Given the description of an element on the screen output the (x, y) to click on. 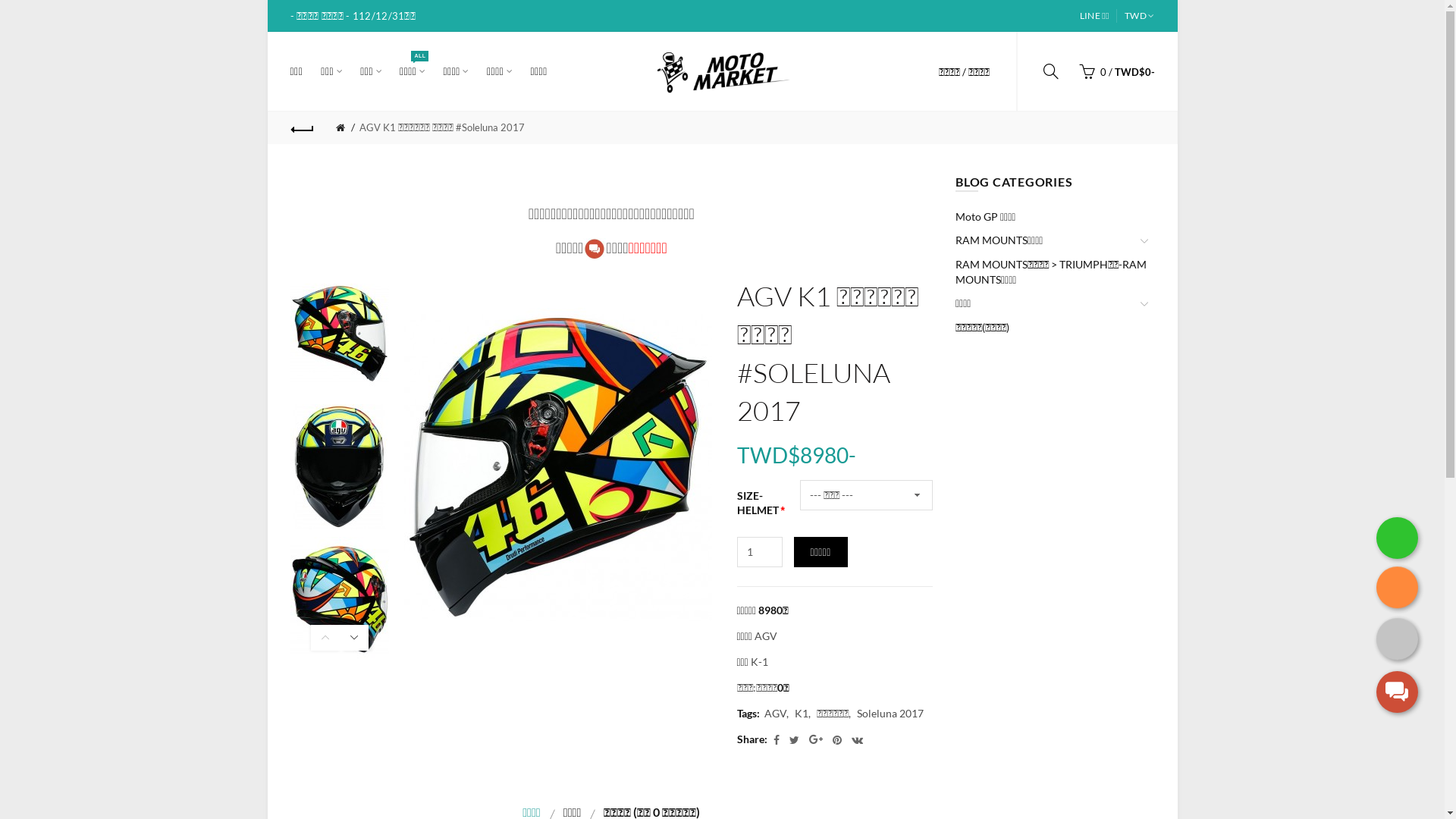
Soleluna 2017 Element type: text (884, 712)
K1 Element type: text (796, 712)
AGV Element type: text (765, 635)
AGV Element type: text (775, 712)
TWD Element type: text (1136, 15)
0 / TWD$0- Element type: text (1112, 71)
